Given the description of an element on the screen output the (x, y) to click on. 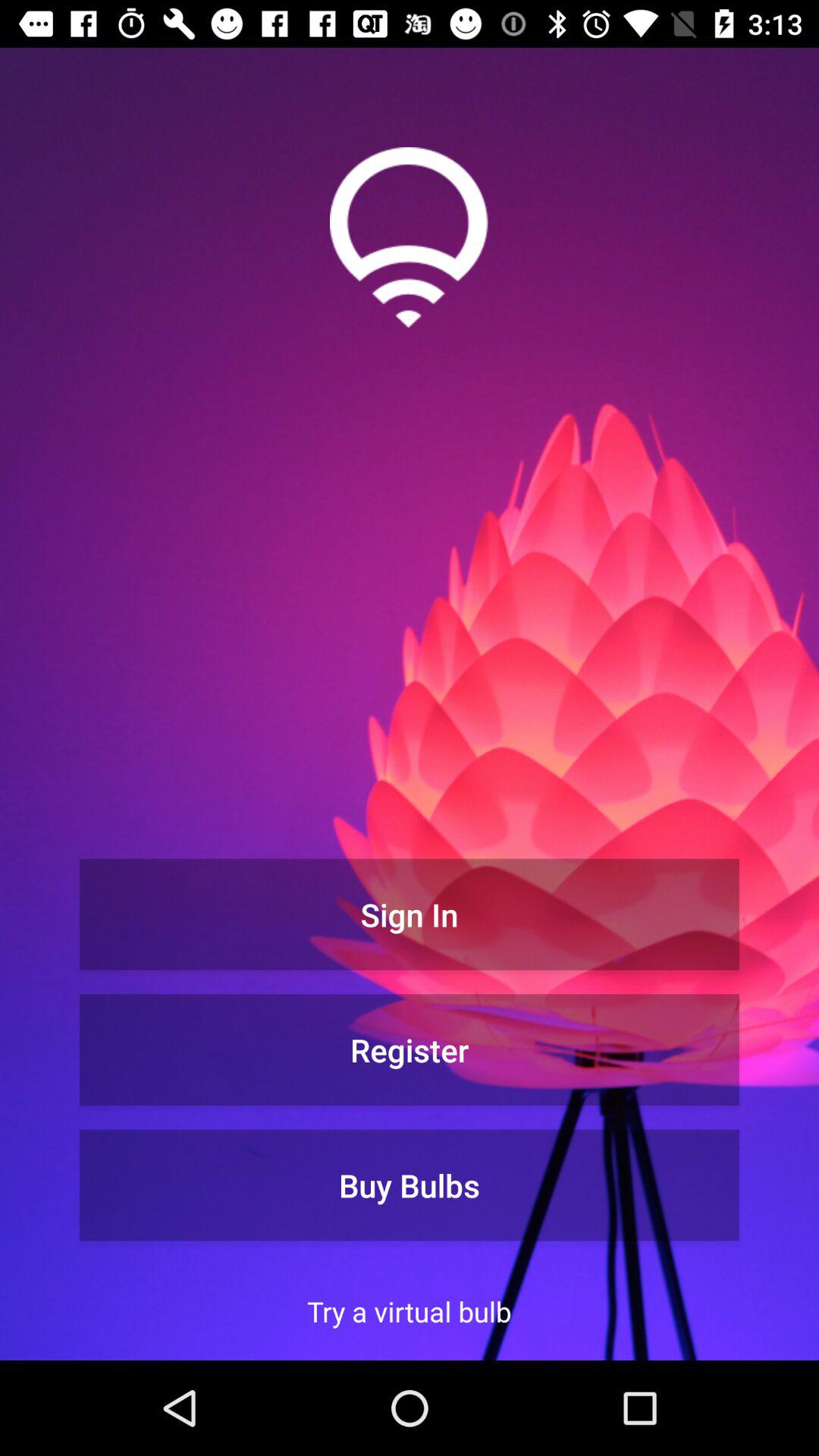
launch try a virtual item (409, 1311)
